Given the description of an element on the screen output the (x, y) to click on. 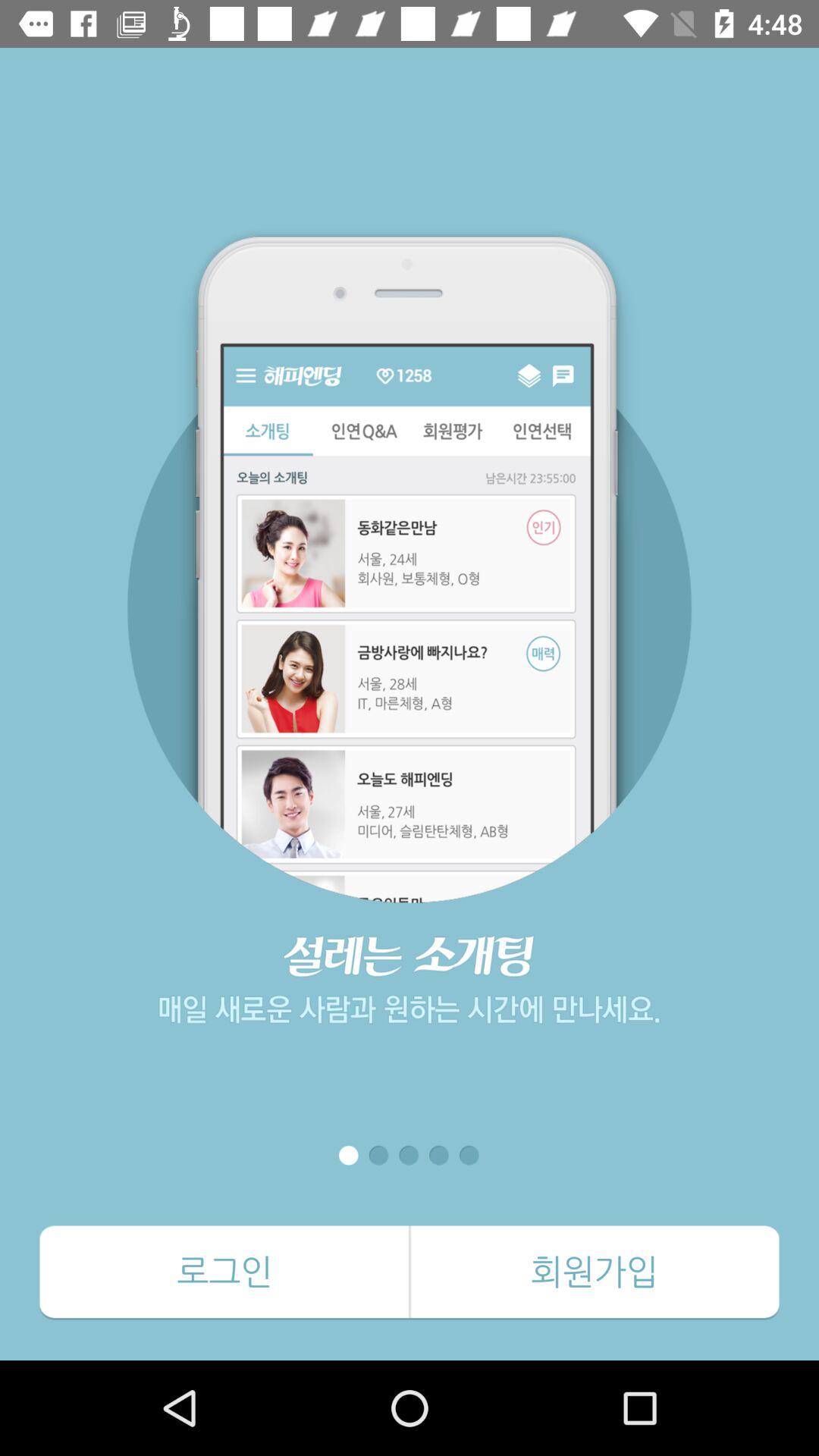
turn on item at the bottom left corner (224, 1272)
